Given the description of an element on the screen output the (x, y) to click on. 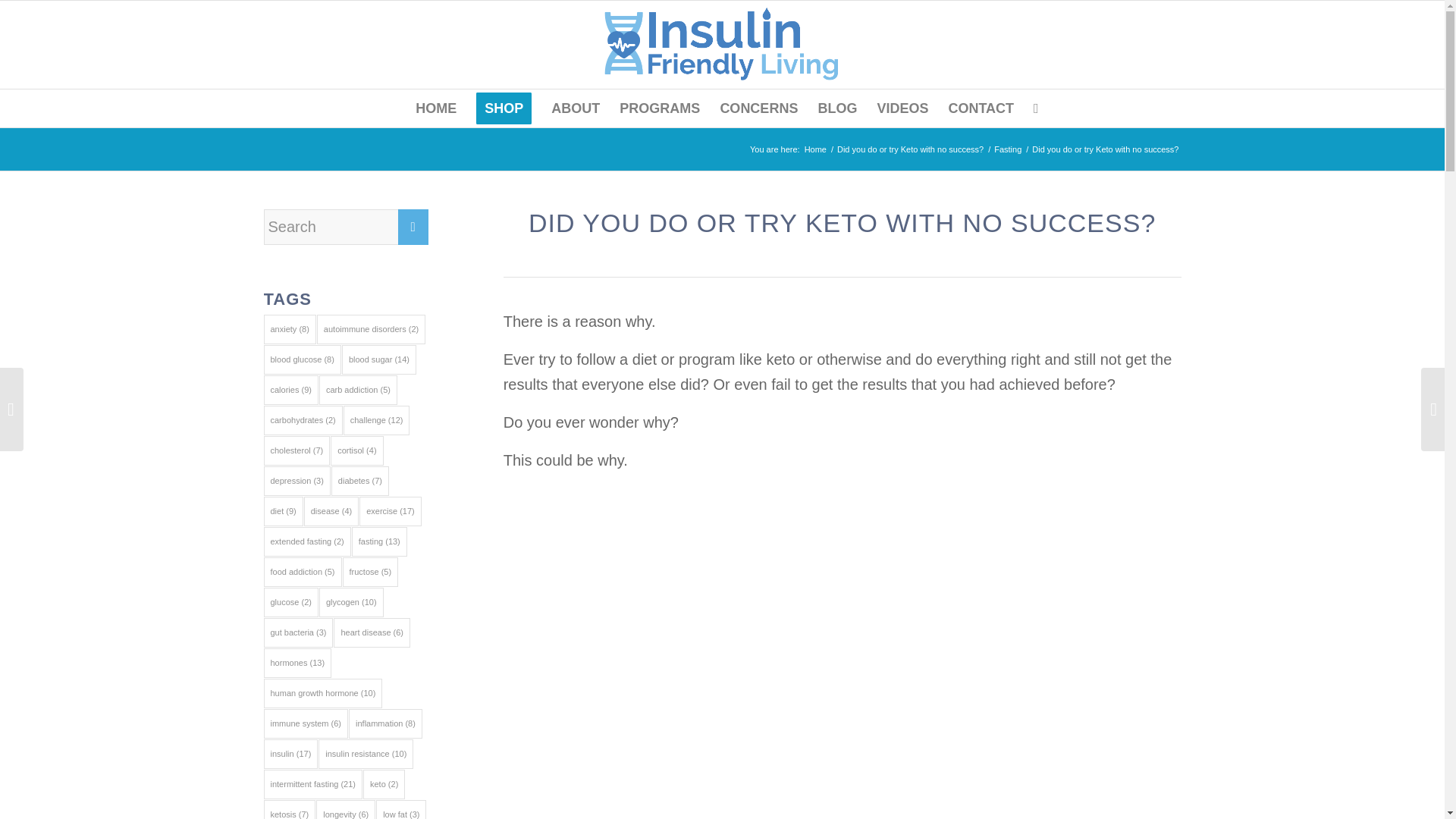
SHOP (503, 108)
HOME (435, 108)
IFL-Transparent-Background (722, 44)
CONCERNS (759, 108)
Fasting (1007, 149)
CONTACT (980, 108)
Dr. Don Clum (815, 149)
PROGRAMS (660, 108)
Home (815, 149)
VIDEOS (901, 108)
